Given the description of an element on the screen output the (x, y) to click on. 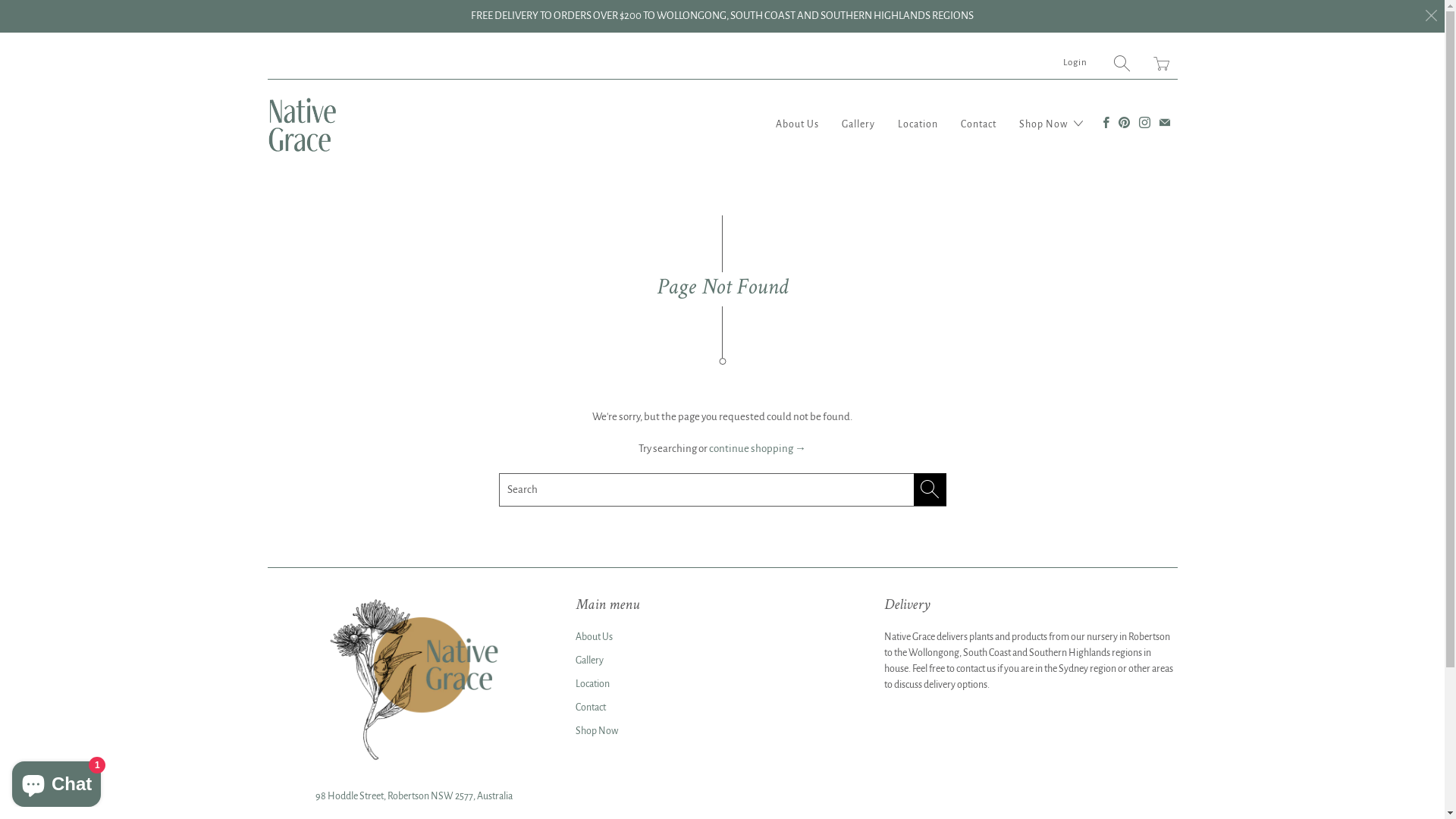
Contact Element type: text (977, 123)
About Us Element type: text (593, 635)
Native Grace on Instagram Element type: hover (1144, 122)
Native Grace on Facebook Element type: hover (1105, 122)
Contact Element type: text (590, 707)
Email Native Grace Element type: hover (1163, 122)
Shop Now Element type: text (1051, 123)
Location Element type: text (917, 123)
Shopify online store chat Element type: hover (56, 780)
Gallery Element type: text (589, 660)
About Us Element type: text (796, 123)
Gallery Element type: text (858, 123)
Translation missing: en.layout.general.title Element type: text (1160, 62)
Login Element type: text (1075, 62)
98 Hoddle Street, Robertson NSW 2577, Australia Element type: text (413, 795)
Location Element type: text (592, 682)
Native Grace on Pinterest Element type: hover (1123, 122)
Search Element type: hover (1121, 62)
Shop Now Element type: text (596, 729)
